Given the description of an element on the screen output the (x, y) to click on. 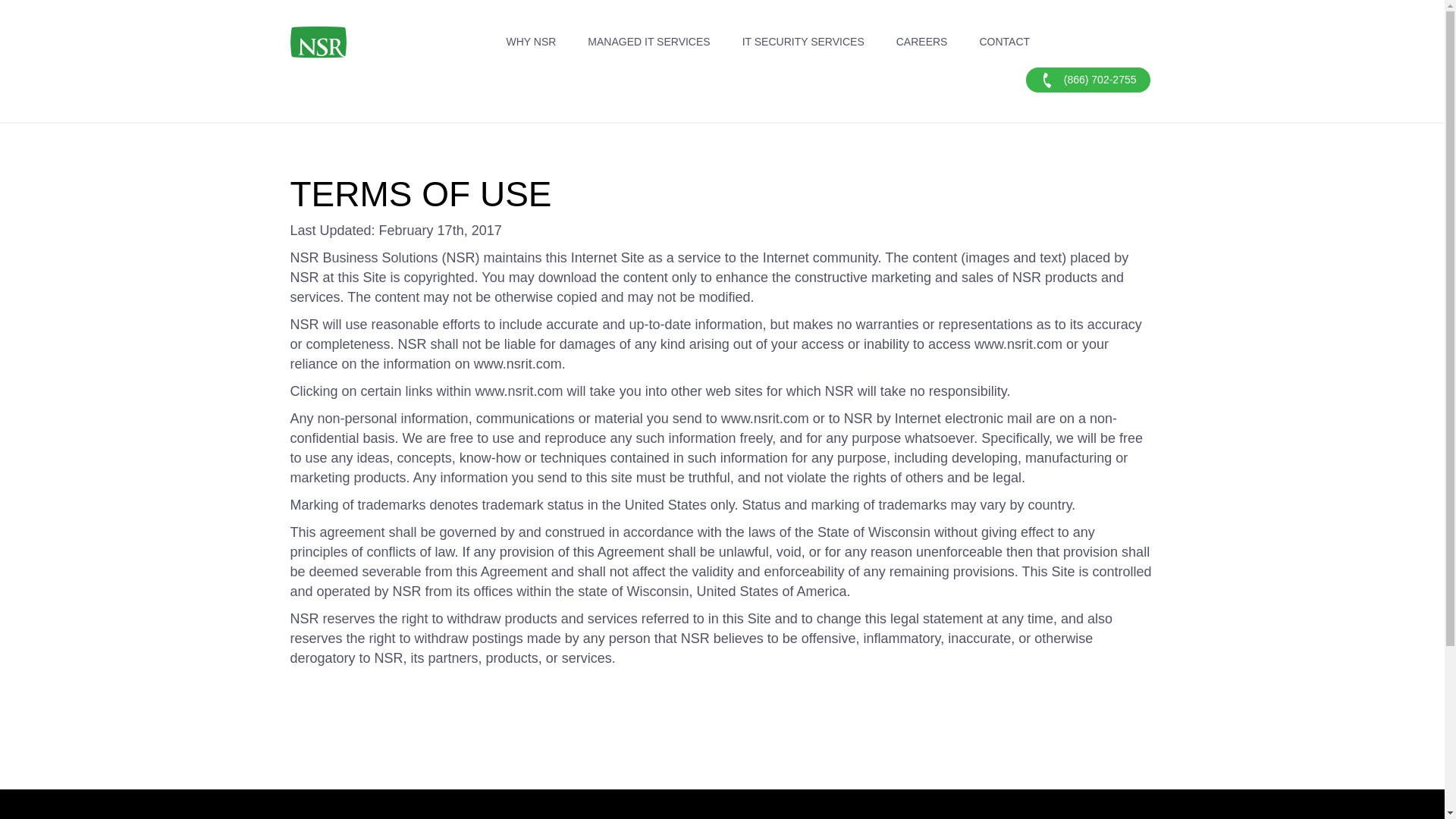
CAREERS (921, 41)
MANAGED IT SERVICES (648, 41)
CONTACT (1004, 41)
IT SECURITY SERVICES (803, 41)
WHY NSR (531, 41)
